Given the description of an element on the screen output the (x, y) to click on. 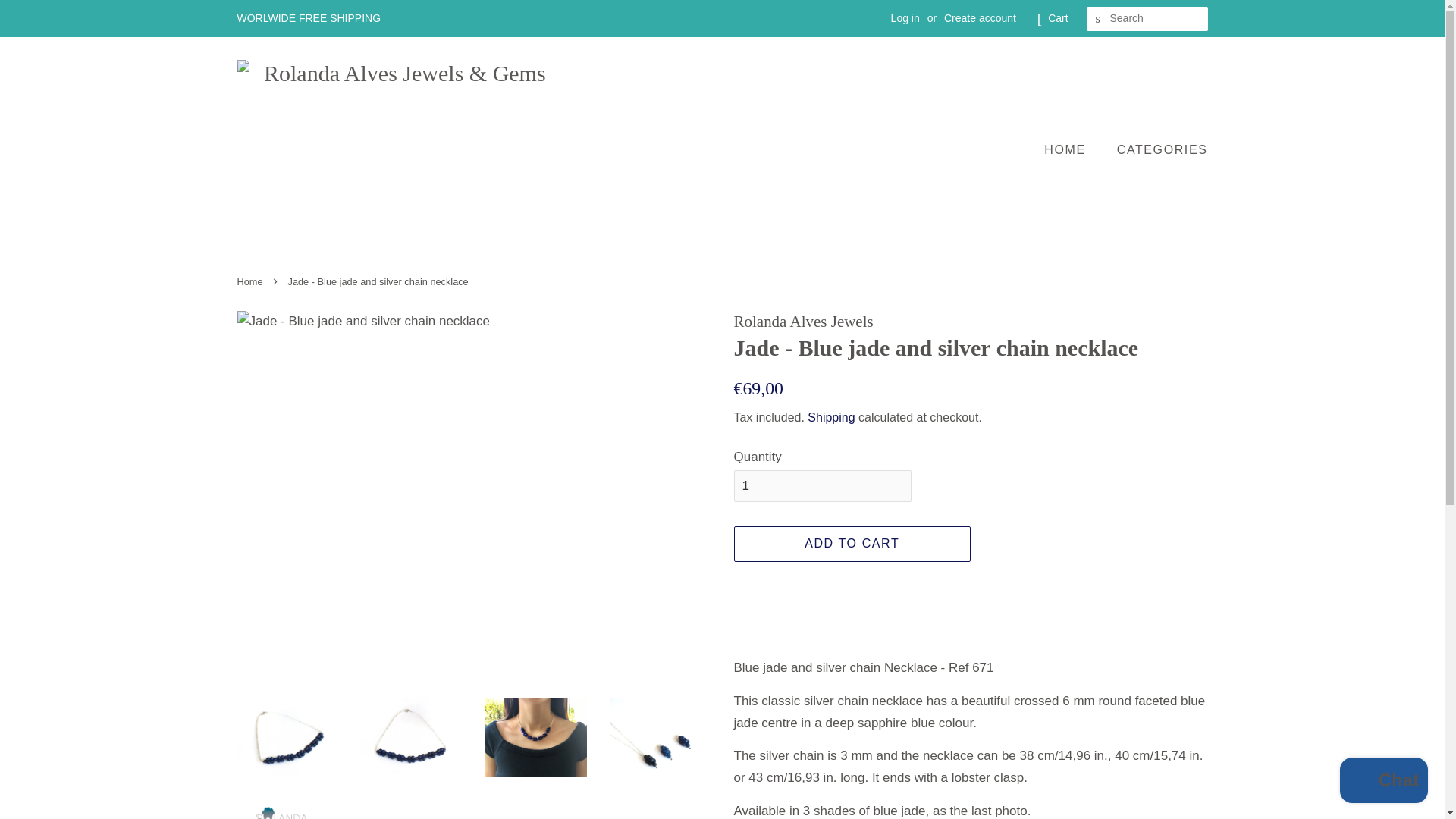
Create account (979, 18)
Log in (905, 18)
Home (250, 281)
Back to the frontpage (250, 281)
Shipping (831, 417)
ADD TO CART (852, 543)
SEARCH (1097, 18)
1 (822, 486)
HOME (1071, 149)
CATEGORIES (1156, 149)
